Given the description of an element on the screen output the (x, y) to click on. 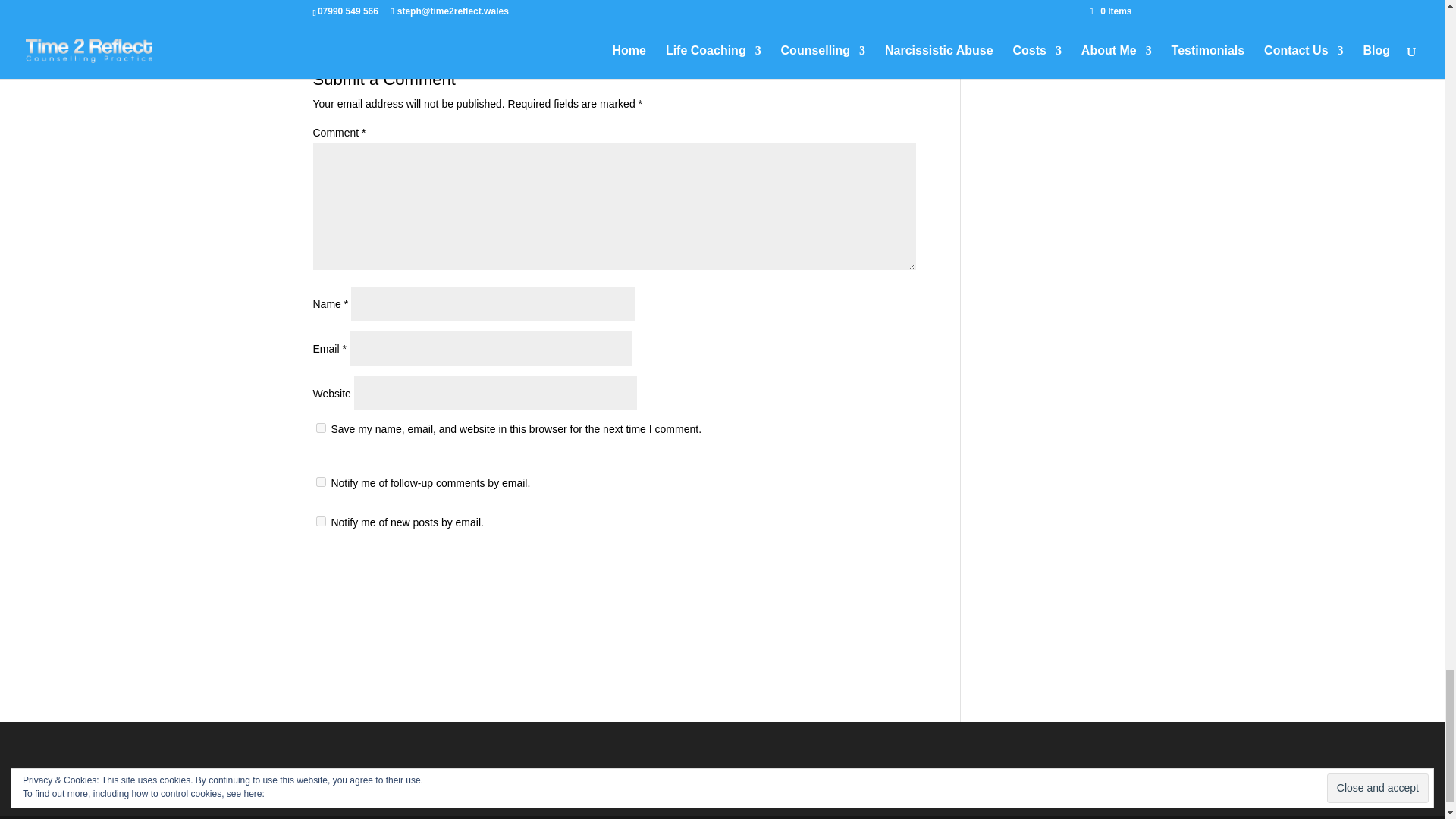
Submit Comment (840, 572)
yes (319, 428)
Submit Comment (840, 572)
subscribe (319, 481)
subscribe (319, 521)
